Given the description of an element on the screen output the (x, y) to click on. 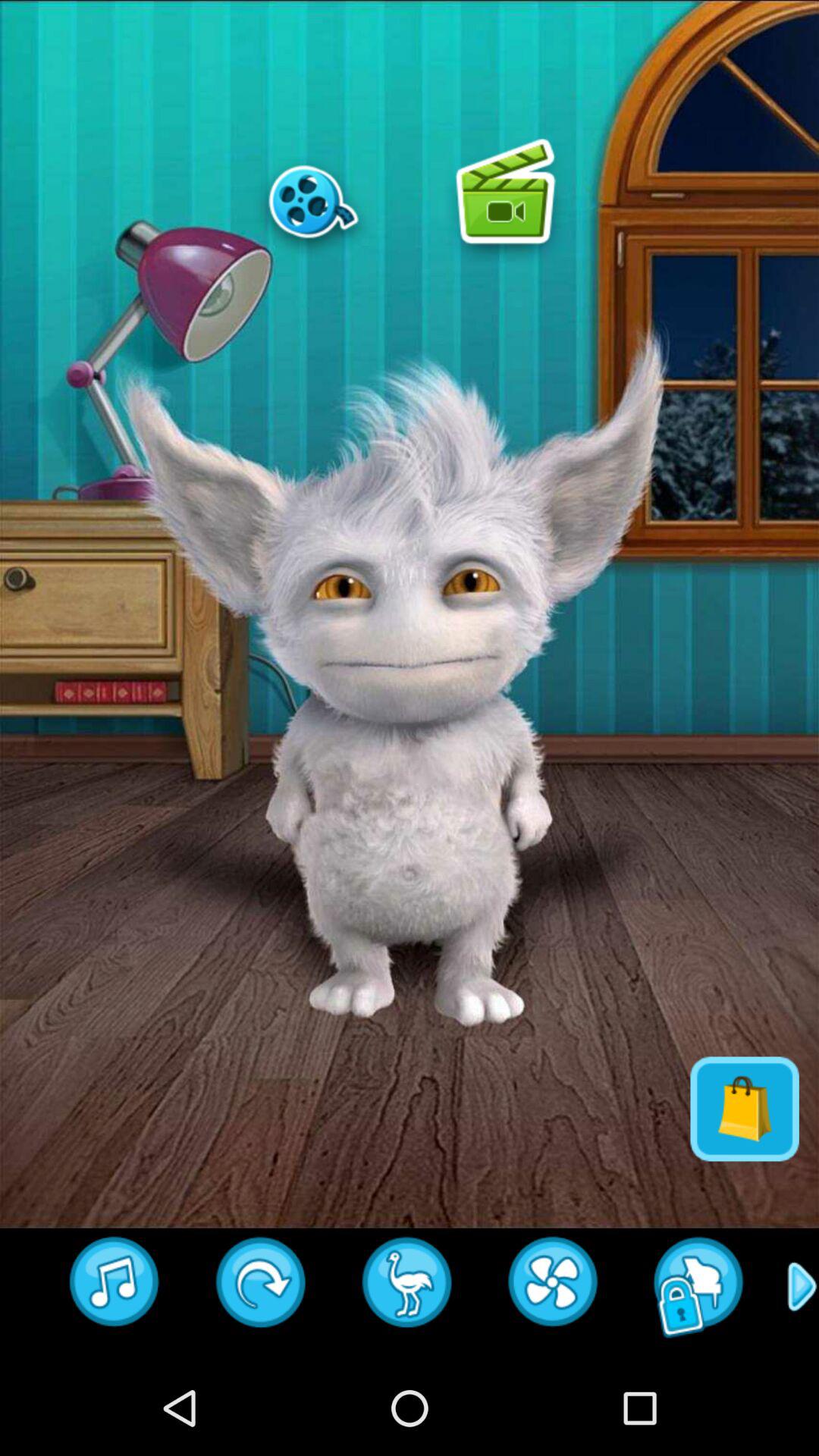
locked until (699, 1287)
